Given the description of an element on the screen output the (x, y) to click on. 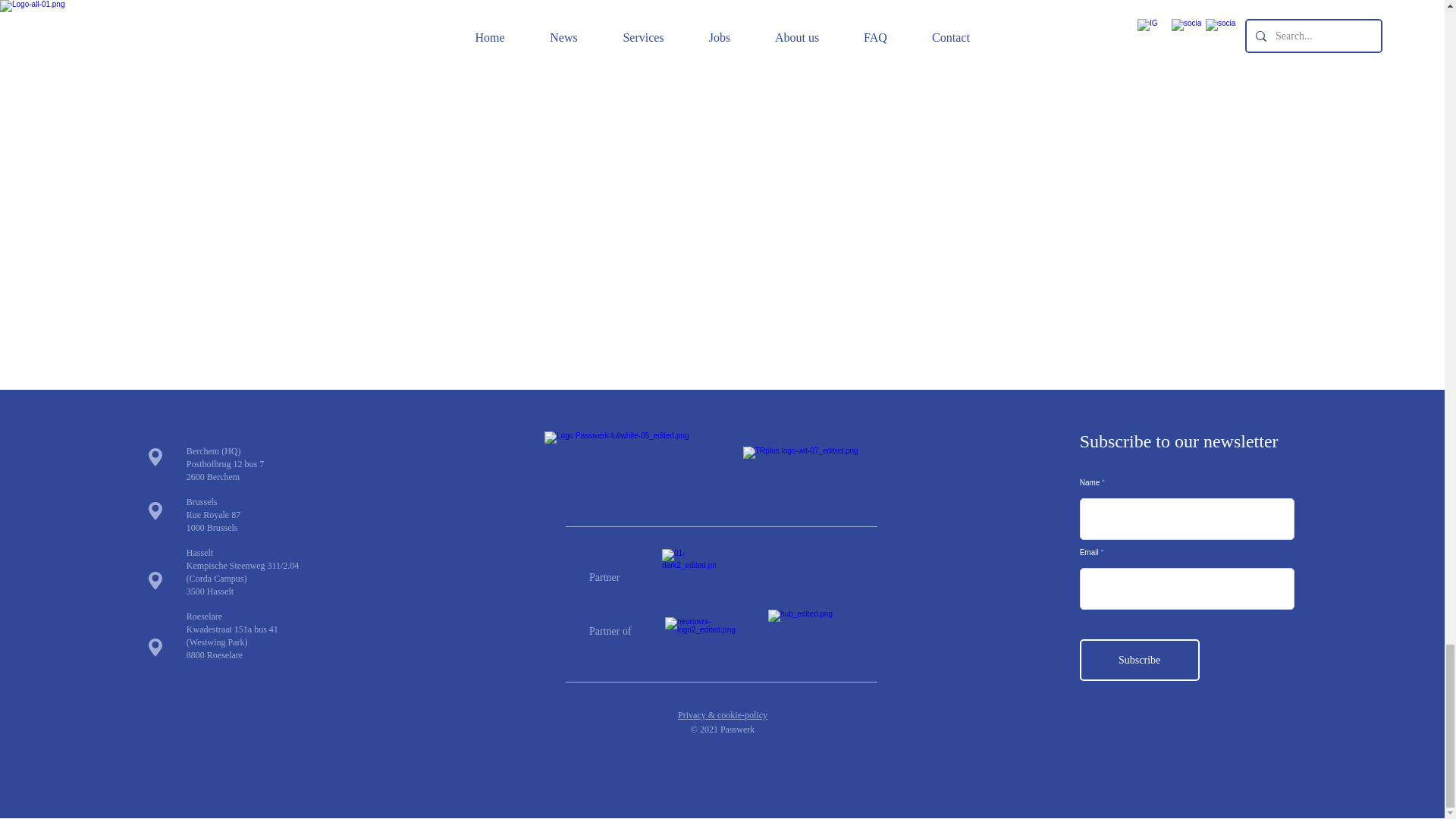
Subscribe (1139, 659)
